Given the description of an element on the screen output the (x, y) to click on. 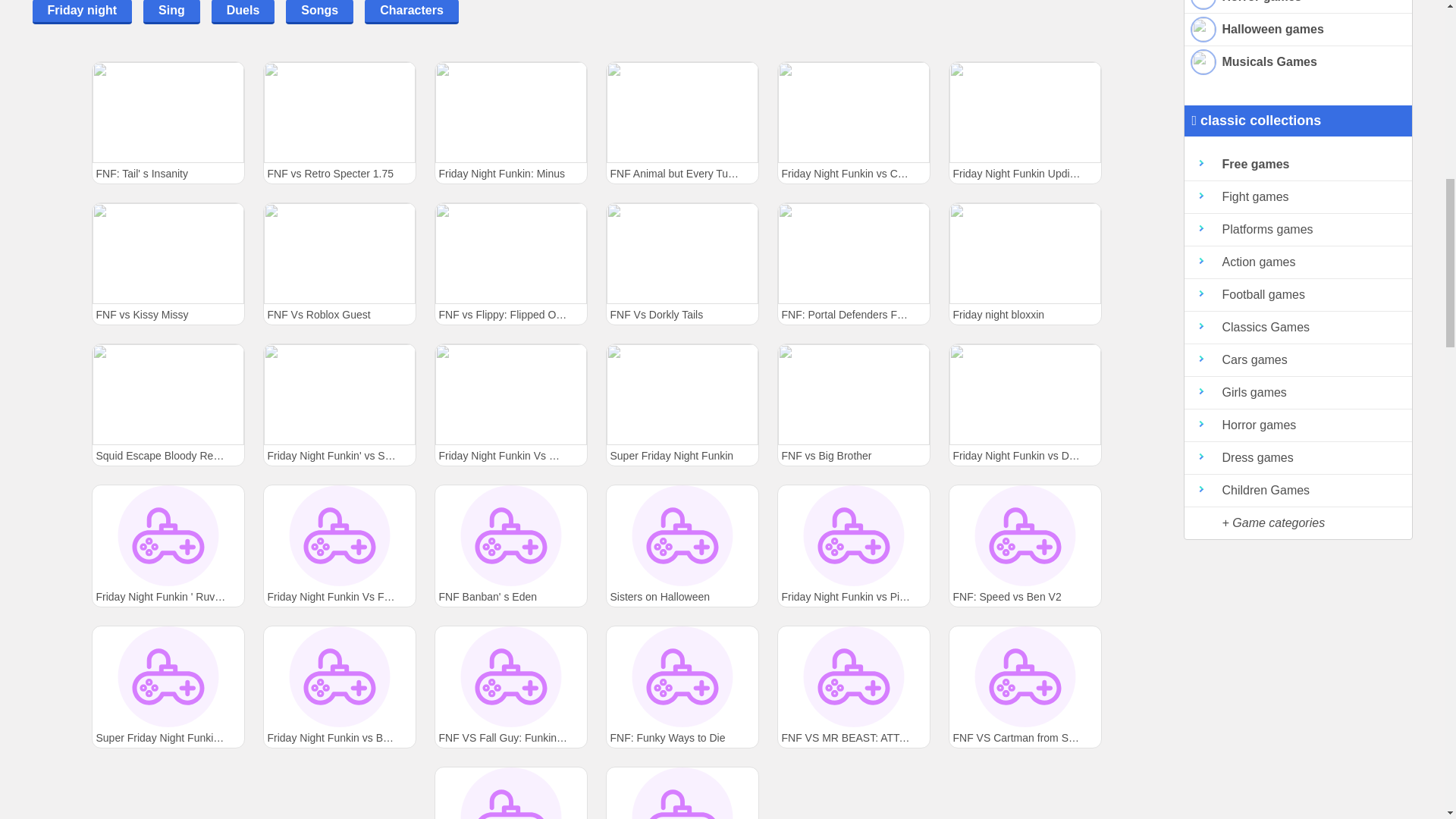
Characters (411, 12)
Musicals Games (1298, 61)
Halloween games (1298, 29)
Dress games (1298, 458)
Free Horror games, Horror, fear and panic (1298, 6)
Friday night (82, 12)
Fight games (1298, 196)
Free Halloween games, Halloween night (1298, 29)
Duels (243, 12)
Girls games (1298, 392)
